Given the description of an element on the screen output the (x, y) to click on. 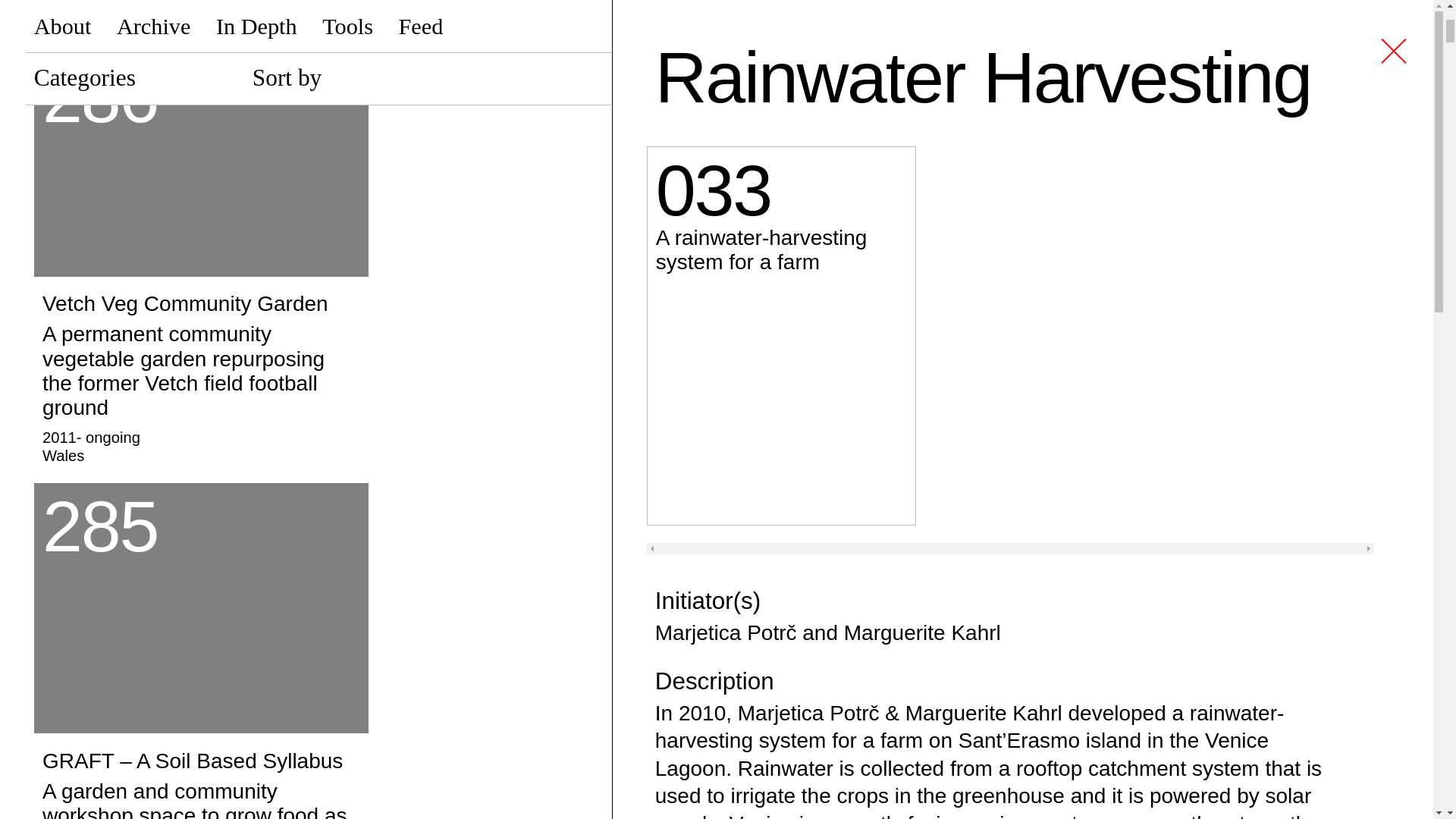
Propose a Project (754, 460)
Download PDF (740, 377)
Vetch Veg Community Garden (200, 375)
Vetch Veg Community Garden (200, 165)
Facebook (1221, 460)
Matria (200, 18)
